Given the description of an element on the screen output the (x, y) to click on. 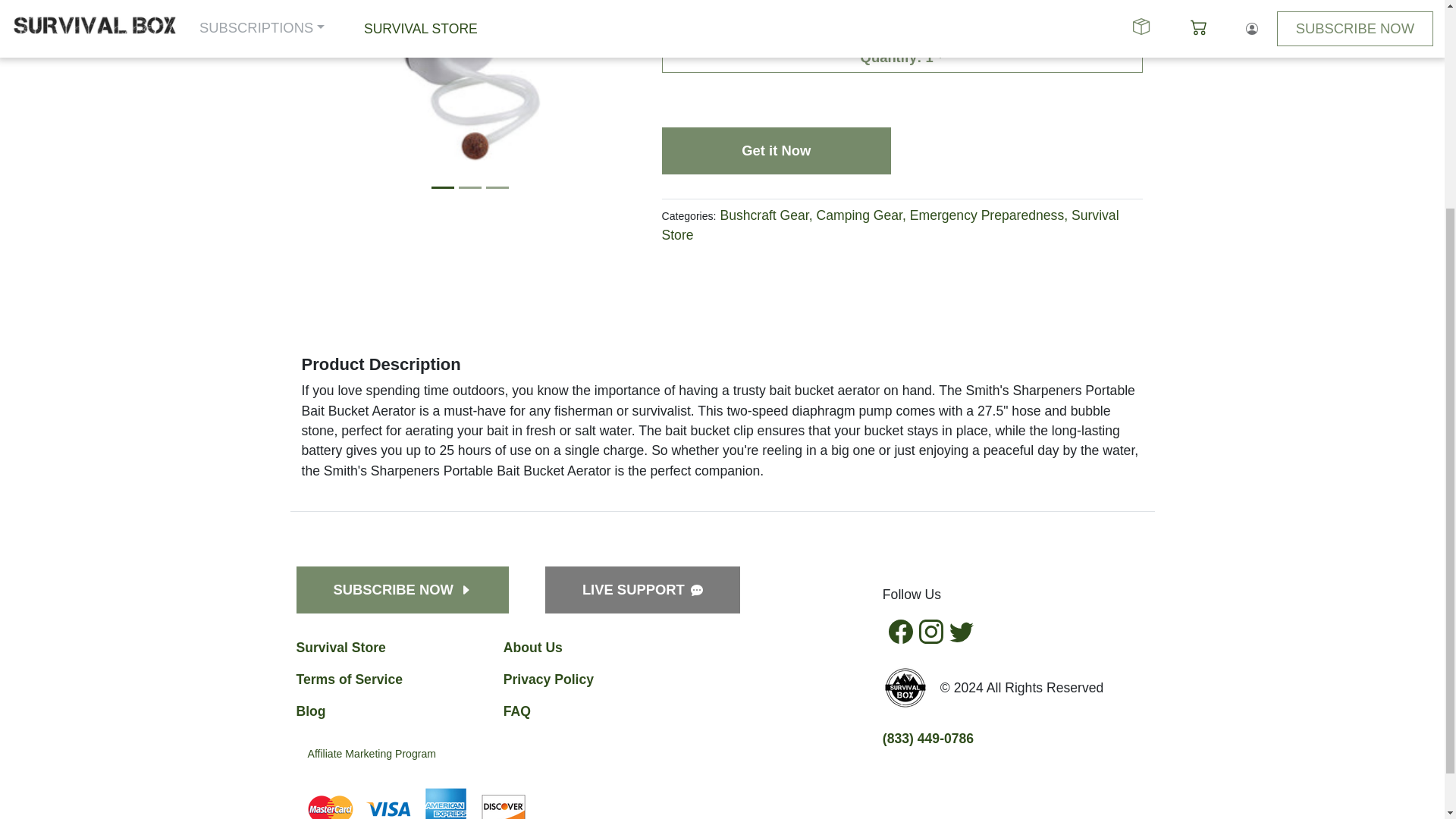
Bushcraft Gear, (765, 215)
Terms of service (349, 679)
Get it Now (775, 150)
SUBSCRIBE NOW (401, 589)
FAQ (517, 711)
Survival Store (889, 225)
Terms of Service (349, 679)
About Us (532, 647)
Blog (309, 711)
Survivalbox blog (309, 711)
